Given the description of an element on the screen output the (x, y) to click on. 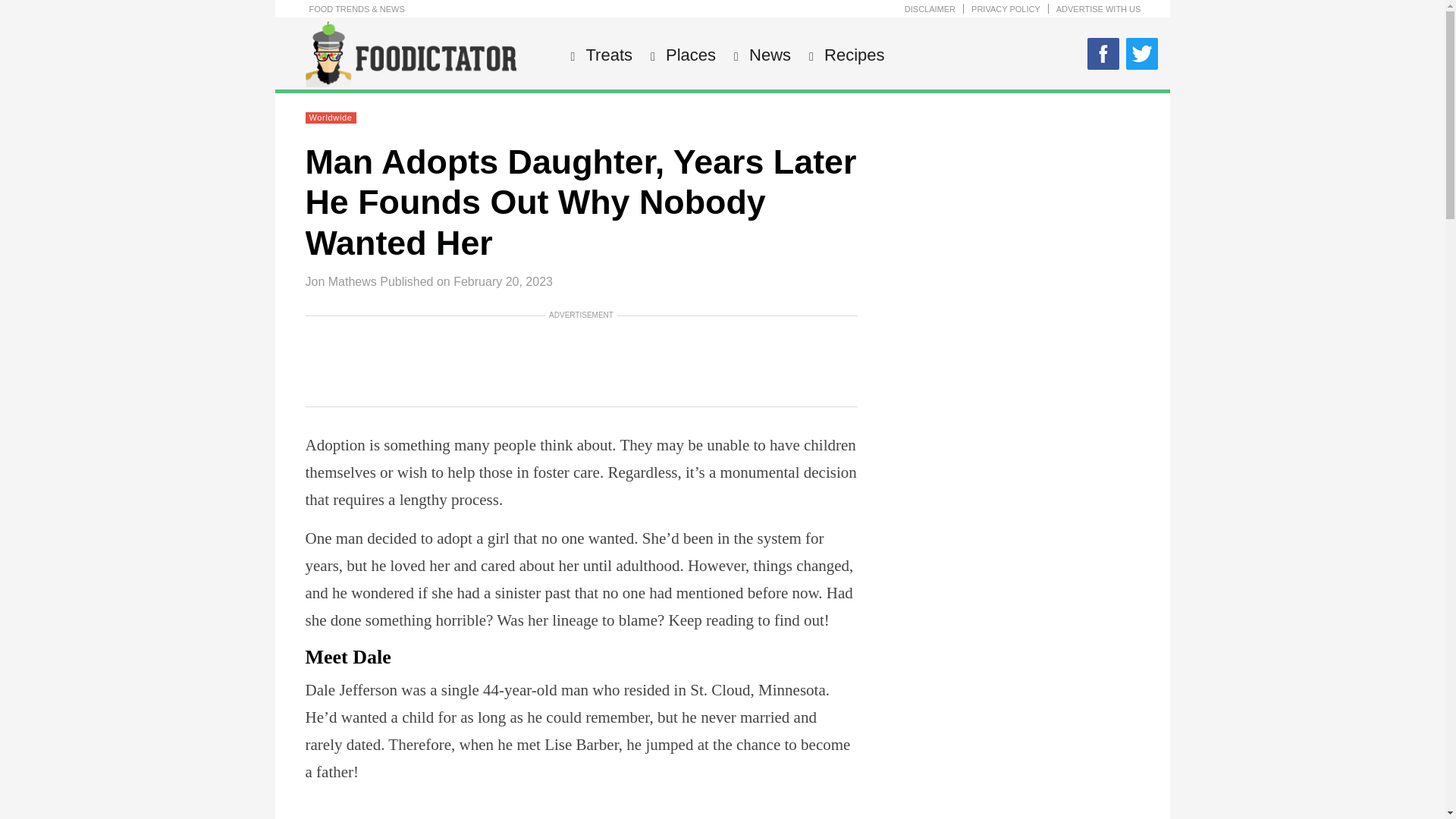
Jon Mathews (339, 281)
Treats (607, 55)
PRIVACY POLICY (1006, 8)
News (767, 55)
Places (689, 55)
DISCLAIMER (929, 8)
ADVERTISE WITH US (1099, 8)
Worldwide (330, 117)
Recipes (852, 55)
Foodictator (409, 82)
